Given the description of an element on the screen output the (x, y) to click on. 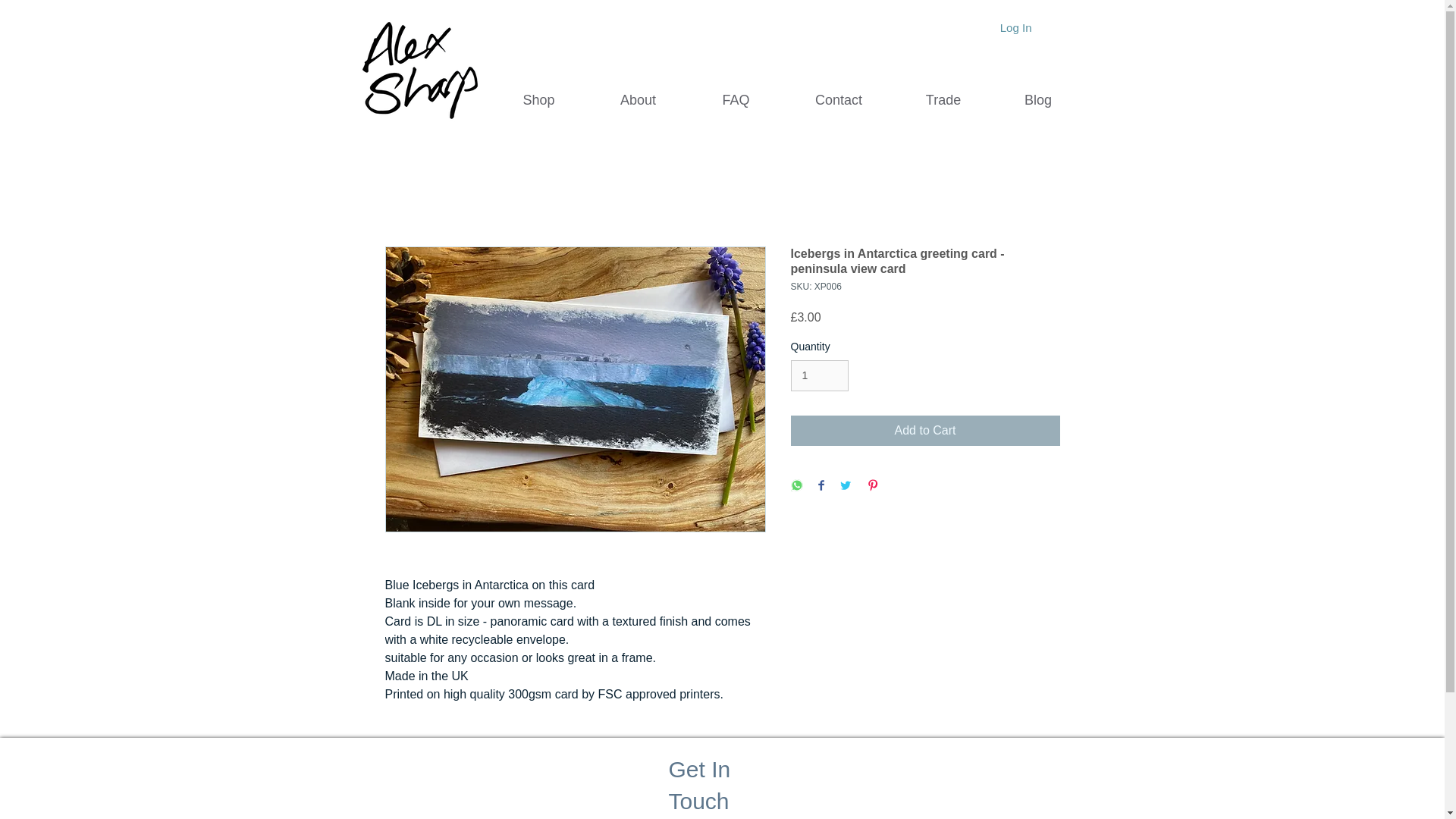
Contact (838, 100)
Blog (1037, 100)
Trade (943, 100)
Log In (1016, 27)
About (637, 100)
Add to Cart (924, 430)
FAQ (735, 100)
1 (818, 375)
